Given the description of an element on the screen output the (x, y) to click on. 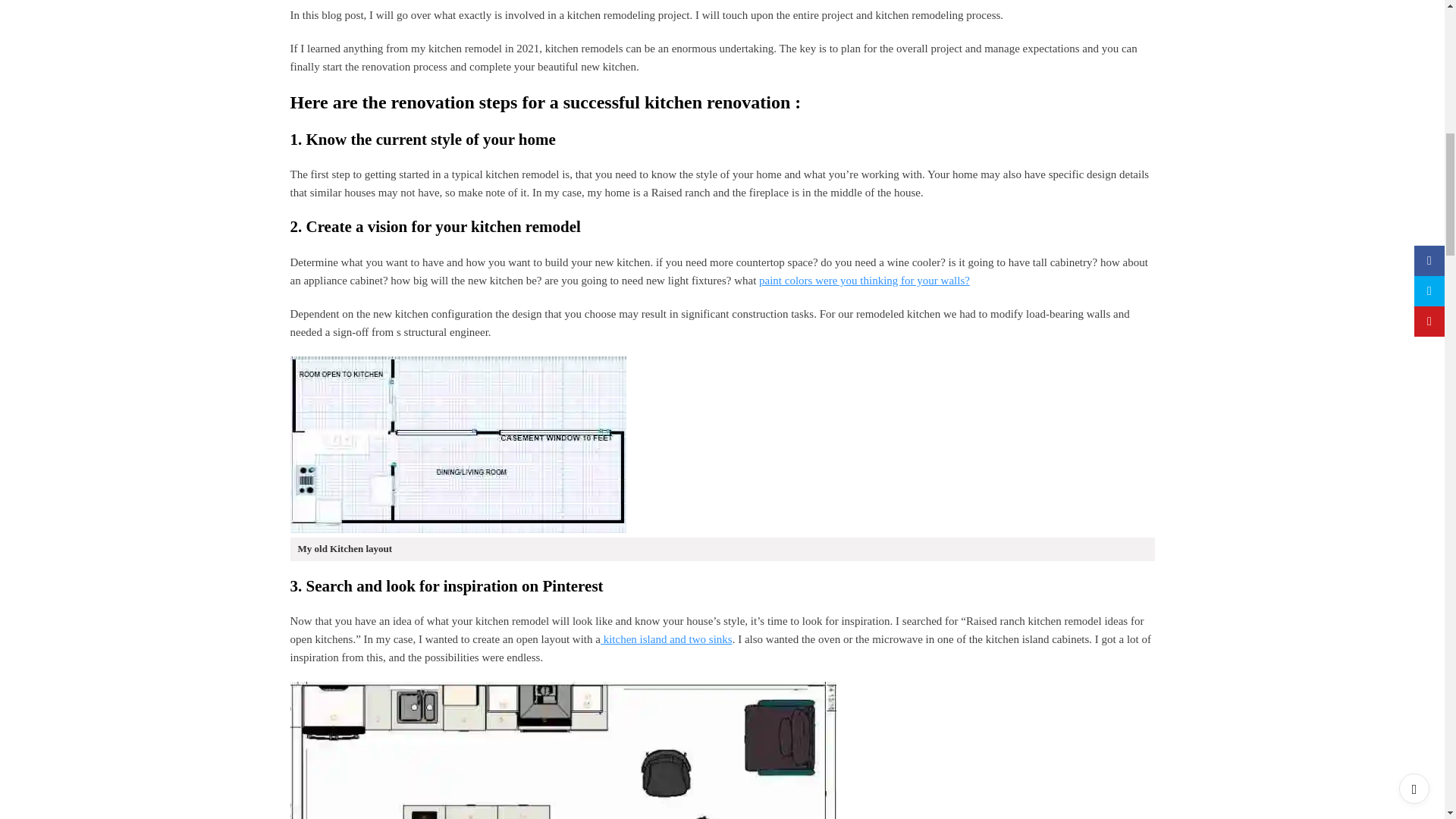
newkitchenlayout (562, 750)
paint colors were you thinking for your walls? (863, 280)
Pinterest (571, 586)
floorplan 2 (457, 444)
kitchen island and two sinks (665, 639)
